Given the description of an element on the screen output the (x, y) to click on. 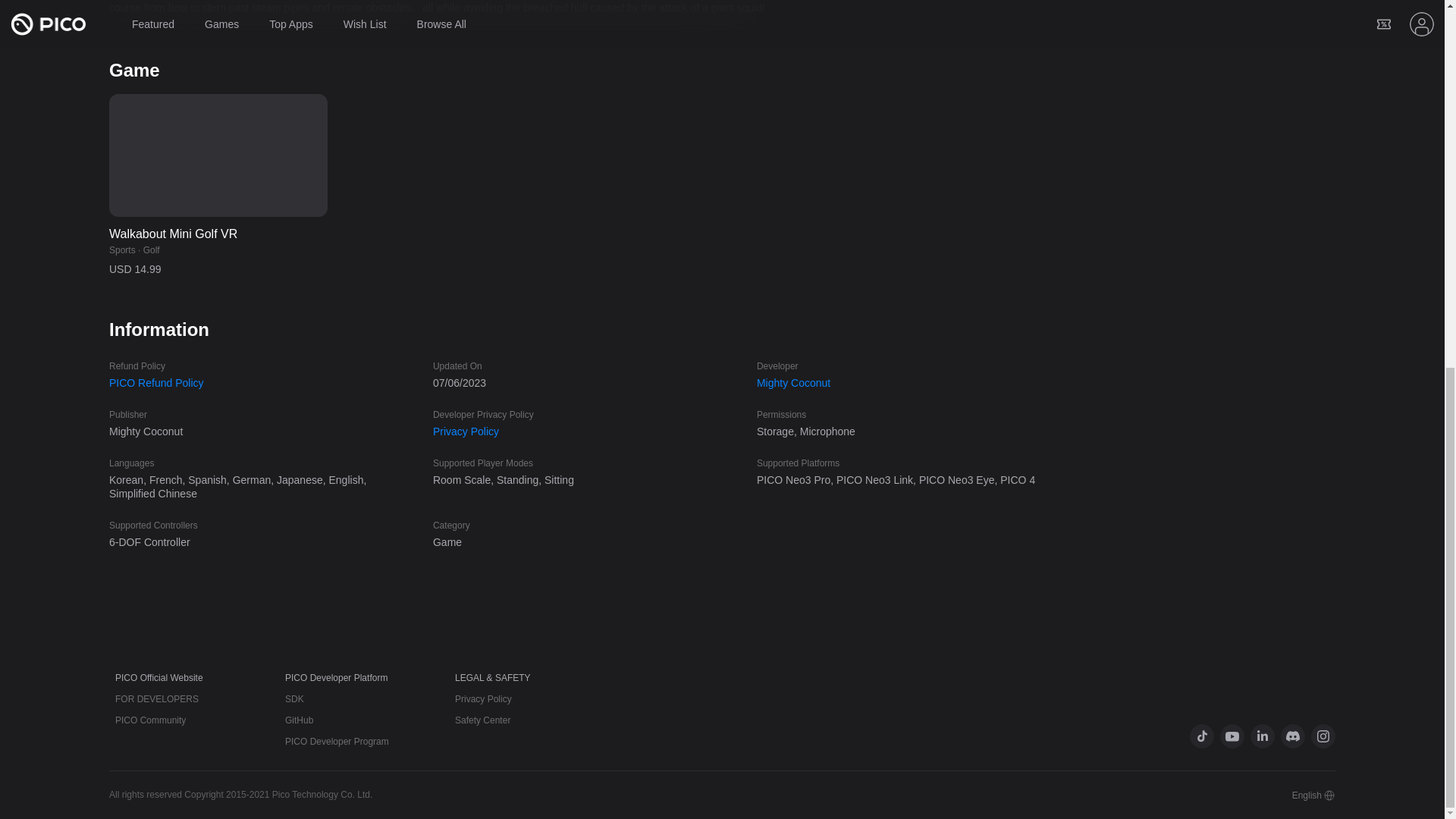
SDK (294, 698)
PICO Community (150, 719)
Safety Center (482, 719)
PICO Refund Policy (156, 382)
Privacy Policy (483, 698)
GitHub (299, 719)
FOR DEVELOPERS (156, 698)
Mighty Coconut (793, 382)
Privacy Policy (465, 431)
PICO Developer Program (336, 741)
